Given the description of an element on the screen output the (x, y) to click on. 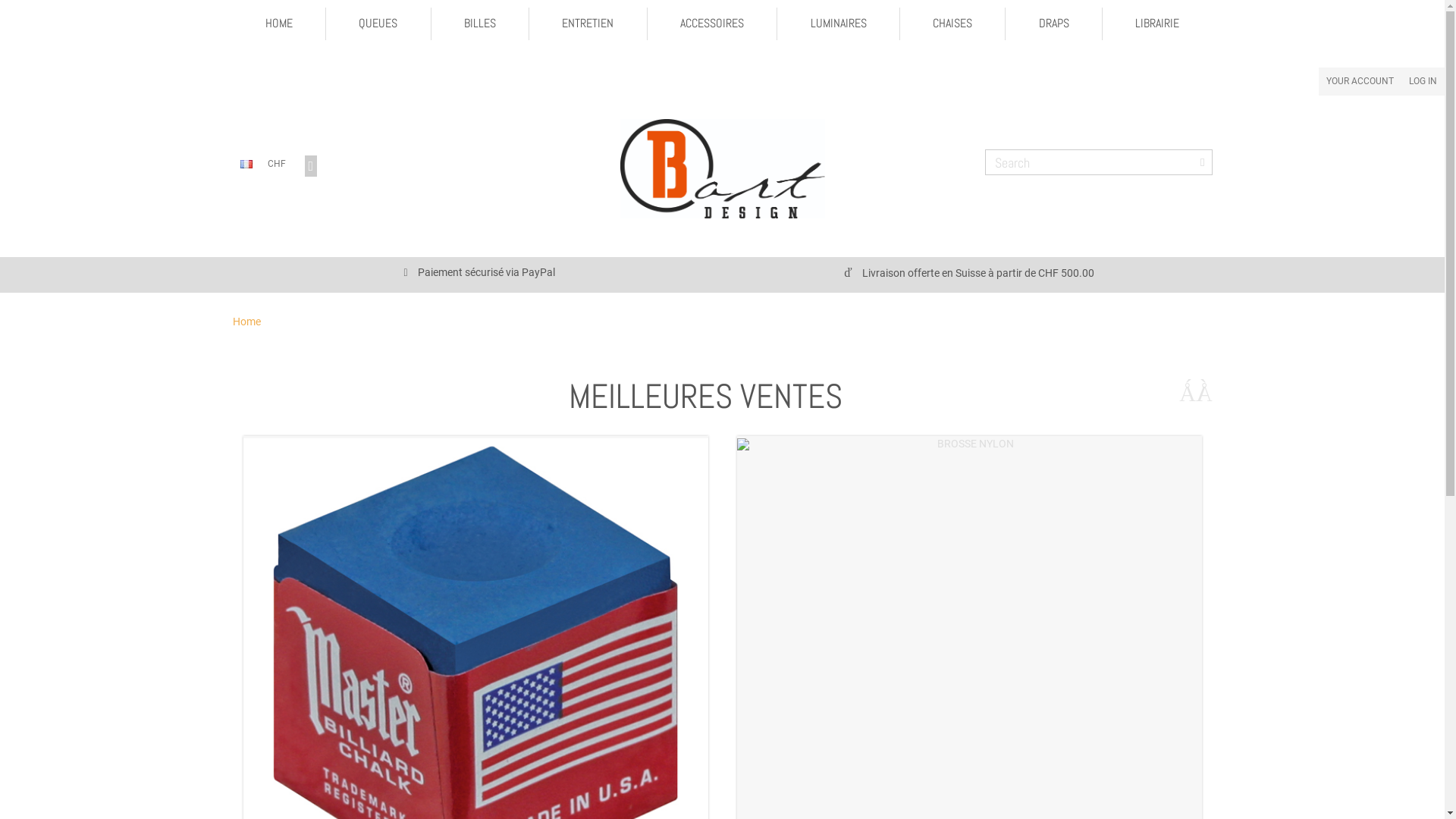
LOG IN Element type: text (1422, 81)
Mes commandes Element type: text (599, 693)
shop@b-art-design.ch Element type: text (1107, 791)
View my shopping cart Element type: hover (312, 165)
LUMINAIRES Element type: text (838, 23)
Mes avoirs Element type: text (599, 708)
BROSSE NYLON Element type: hover (969, 444)
LIBRAIRIE Element type: text (1157, 23)
CHAISES Element type: text (953, 23)
BILLES Element type: text (480, 23)
Mes informations personnelles Element type: text (599, 739)
ENTRETIEN Element type: text (588, 23)
A propos Element type: text (354, 739)
Livraison Element type: text (354, 693)
ADD TO CART Element type: text (968, 516)
ACCESSOIRES Element type: text (712, 23)
NETTOYANT DRAP Element type: text (475, 468)
DRAPS Element type: text (1053, 23)
Instagram Element type: text (847, 710)
Home Element type: text (246, 321)
QUEUES Element type: text (378, 23)
YOUR ACCOUNT Element type: text (1359, 81)
Facebook Element type: text (848, 693)
HOME Element type: text (279, 23)
JIM REMPE Element type: text (969, 468)
CHF Element type: text (275, 164)
ADD TO CART Element type: text (475, 516)
Mes adresses Element type: text (599, 724)
